Given the description of an element on the screen output the (x, y) to click on. 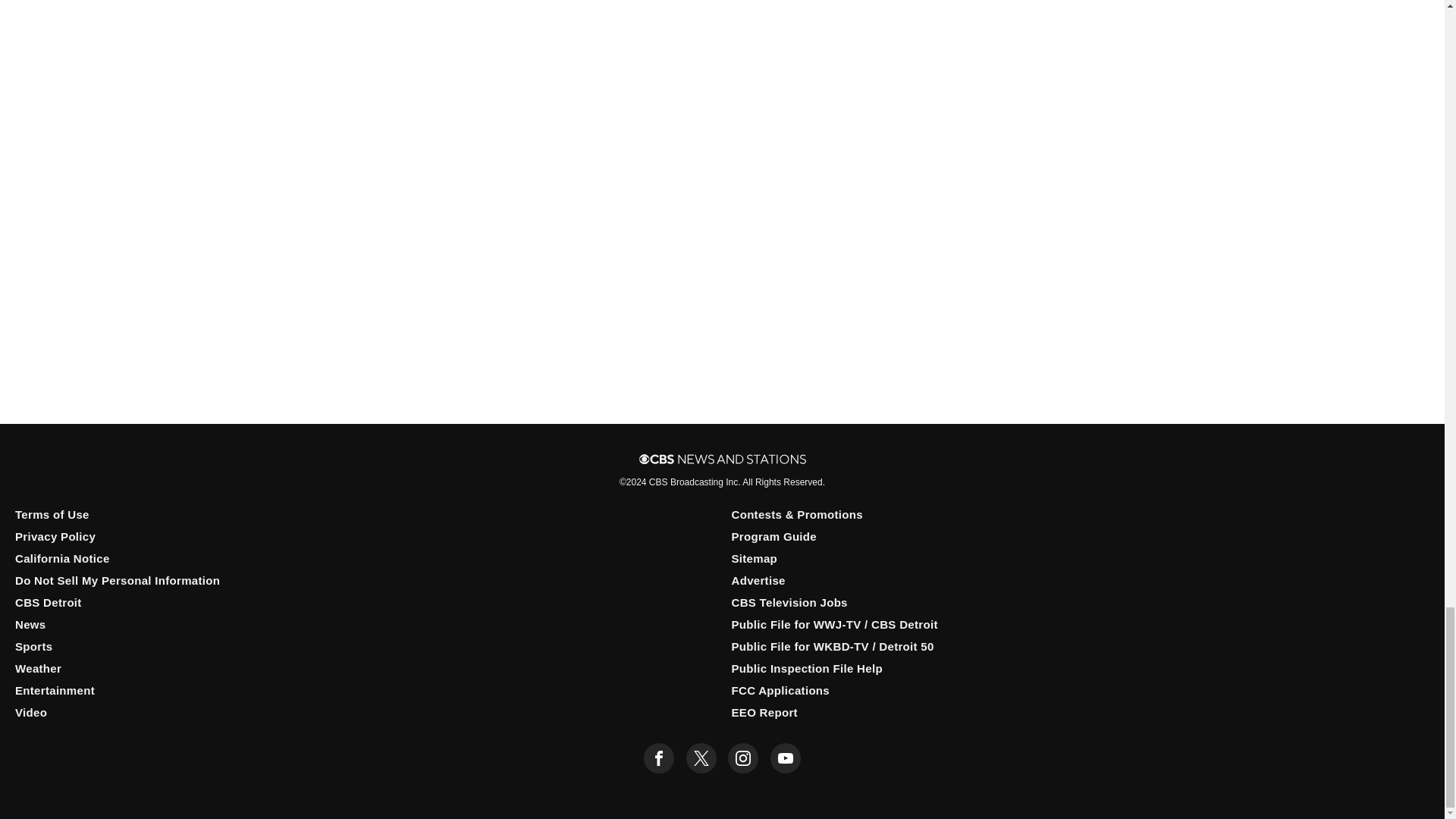
youtube (785, 757)
twitter (700, 757)
facebook (658, 757)
instagram (743, 757)
